Given the description of an element on the screen output the (x, y) to click on. 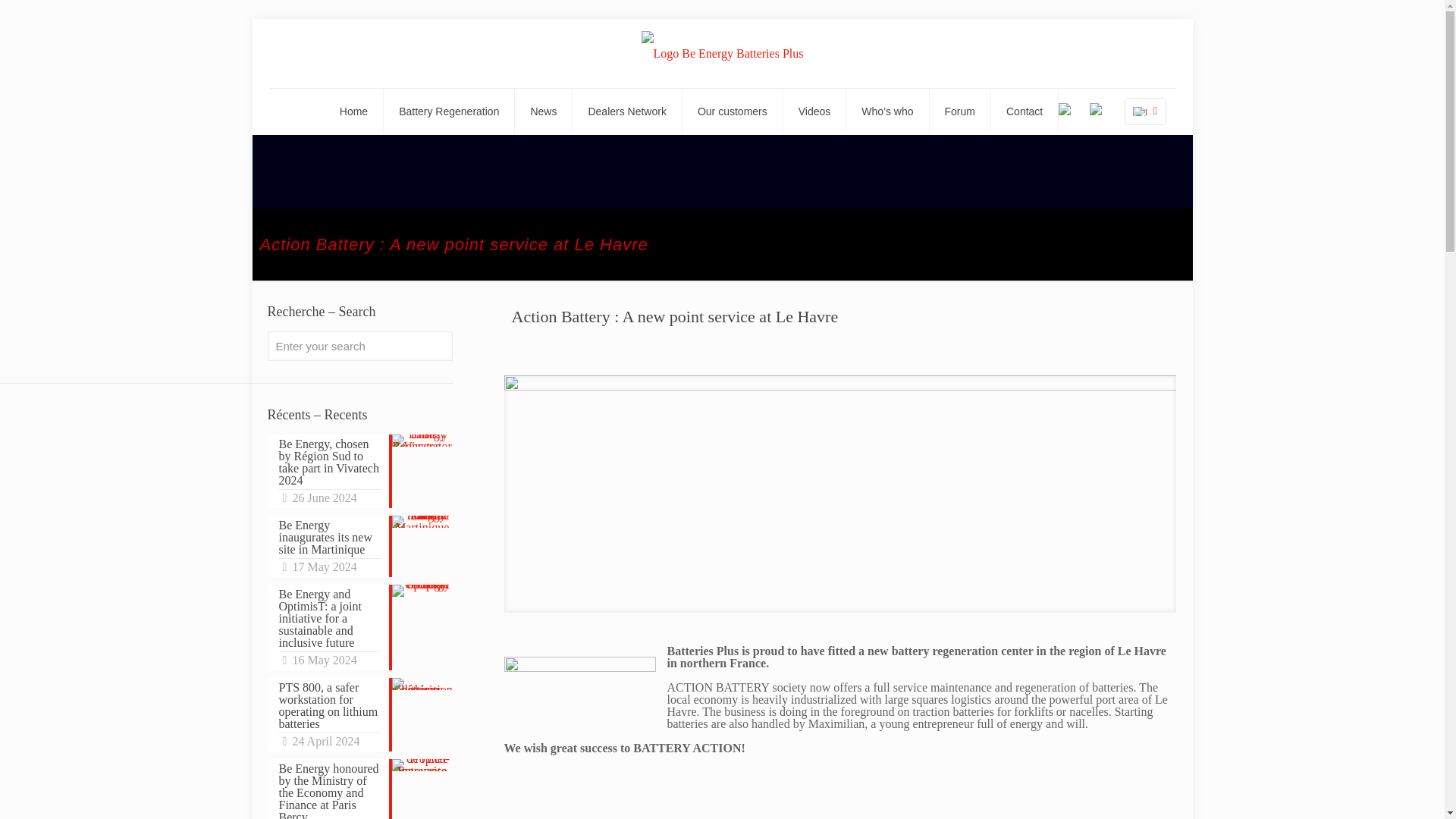
Contact (1024, 111)
Forum (960, 111)
Videos (815, 111)
Our customers (732, 111)
Battery Regeneration (449, 111)
Dealers Network (626, 111)
Home (354, 111)
Battery Regeneration (722, 52)
News (543, 111)
